Given the description of an element on the screen output the (x, y) to click on. 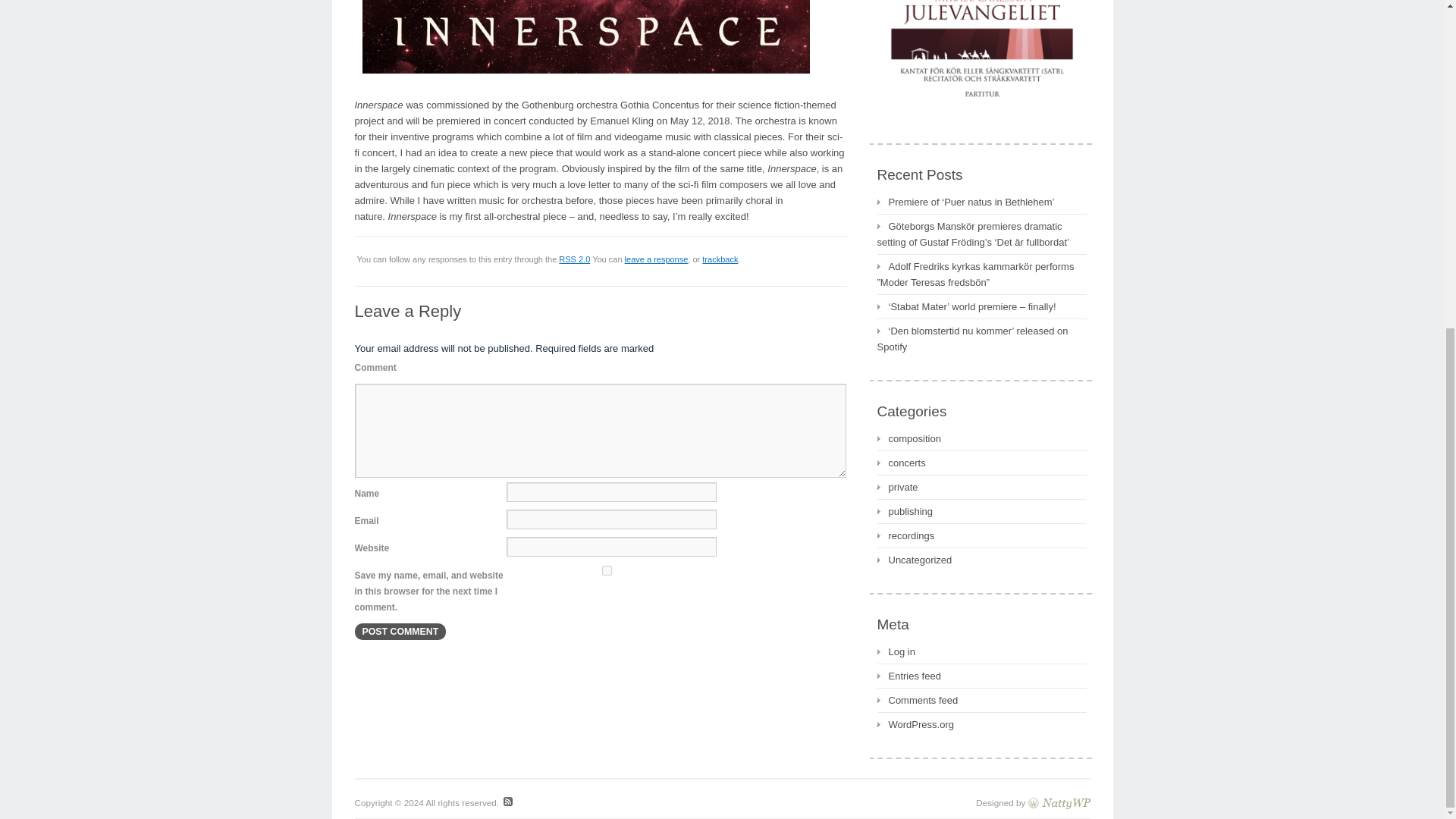
Comments feed (917, 700)
RSS 2.0 (574, 258)
composition (908, 438)
trackback (719, 258)
yes (606, 570)
Log in (895, 651)
private (896, 487)
Entries feed (908, 675)
NattyWP (1058, 802)
publishing (904, 511)
